Given the description of an element on the screen output the (x, y) to click on. 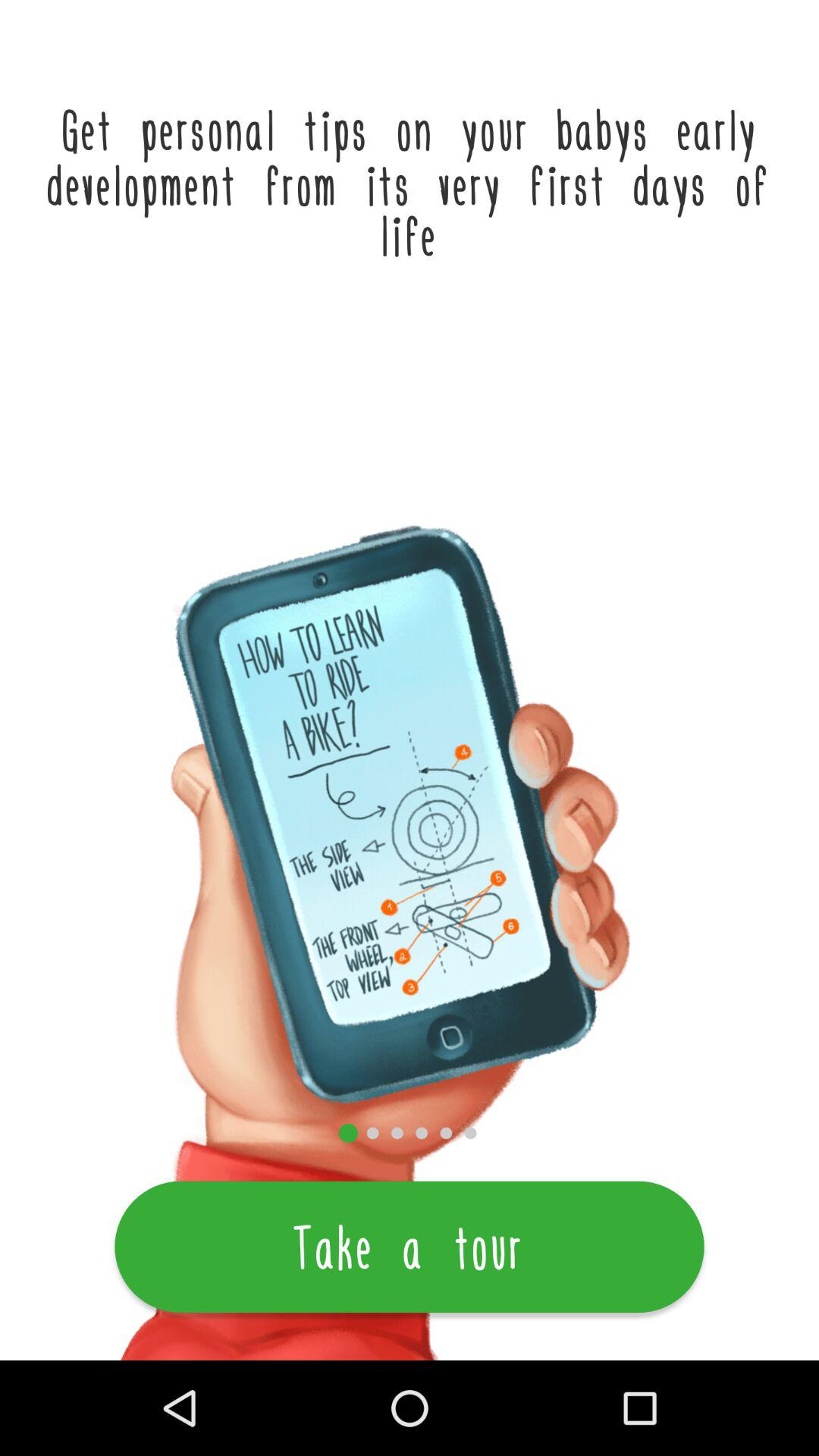
swipe until the take a tour item (409, 1246)
